Given the description of an element on the screen output the (x, y) to click on. 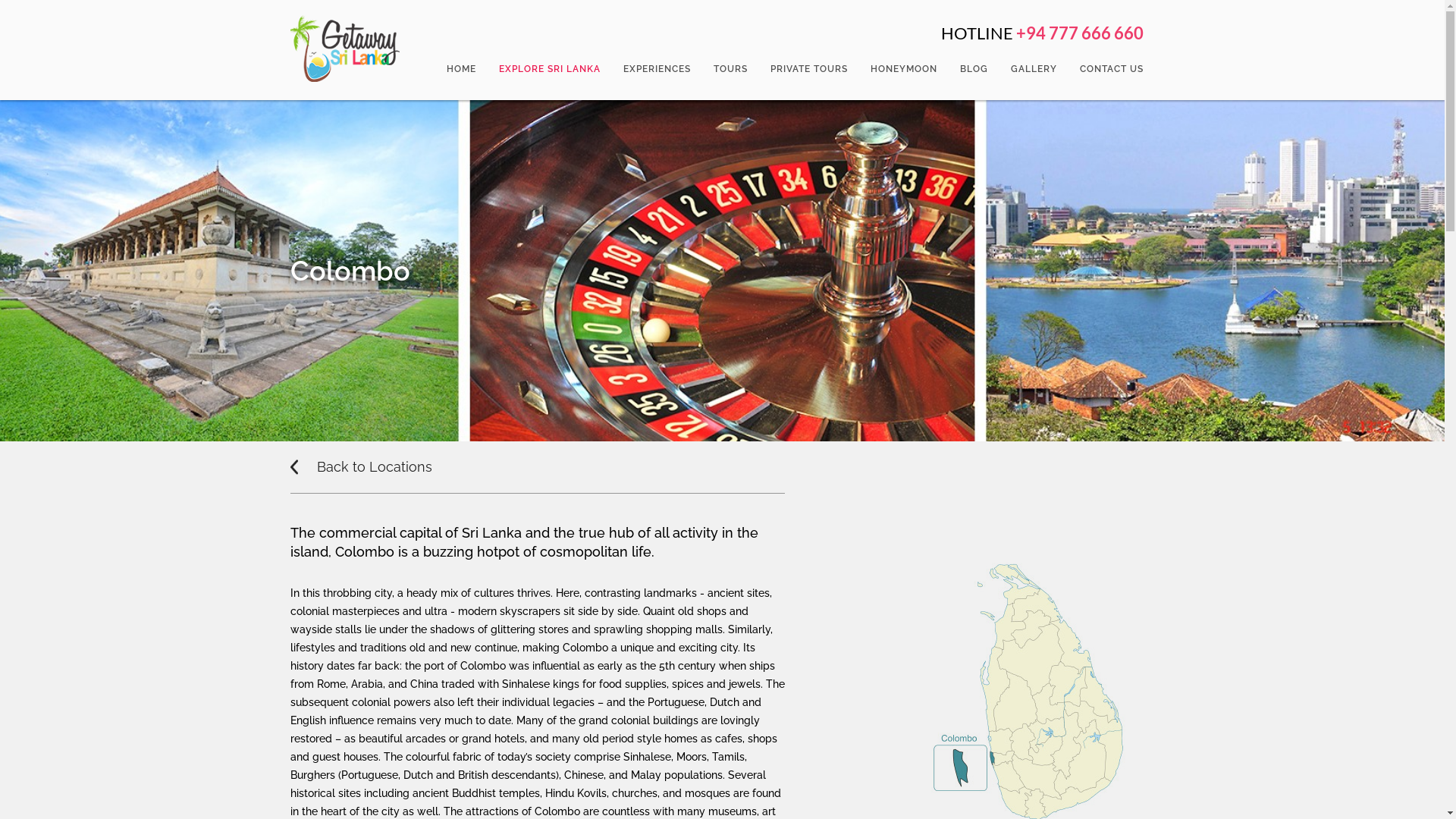
Back to Locations Element type: text (371, 466)
EXPLORE SRI LANKA Element type: text (548, 68)
HOME Element type: text (461, 68)
+94 777 666 660 Element type: text (1079, 32)
PRIVATE TOURS Element type: text (808, 68)
GALLERY Element type: text (1033, 68)
BLOG Element type: text (972, 68)
HONEYMOON Element type: text (902, 68)
TOURS Element type: text (730, 68)
CONTACT US Element type: text (1110, 68)
EXPERIENCES Element type: text (656, 68)
